Given the description of an element on the screen output the (x, y) to click on. 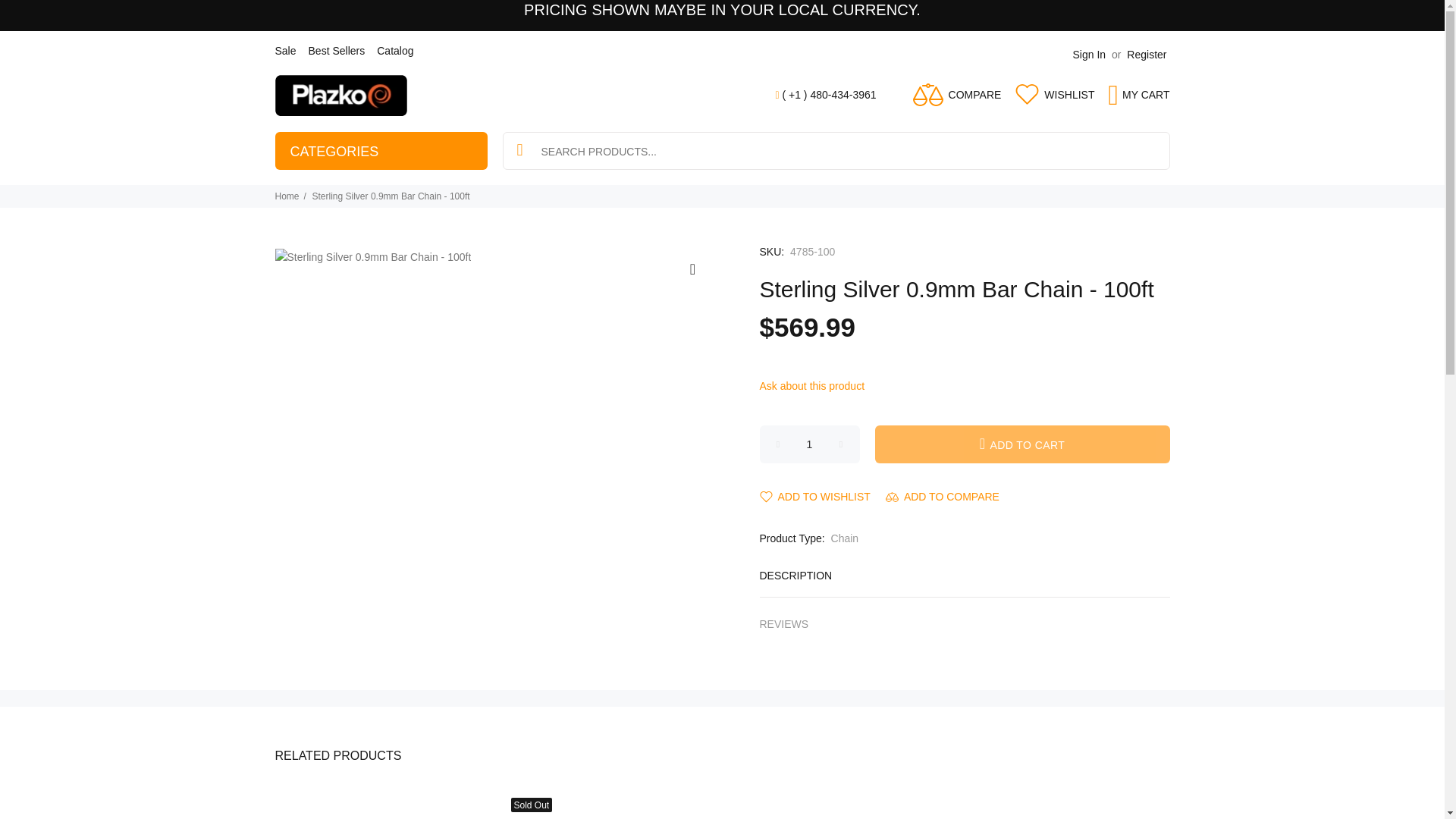
1 (810, 444)
